Given the description of an element on the screen output the (x, y) to click on. 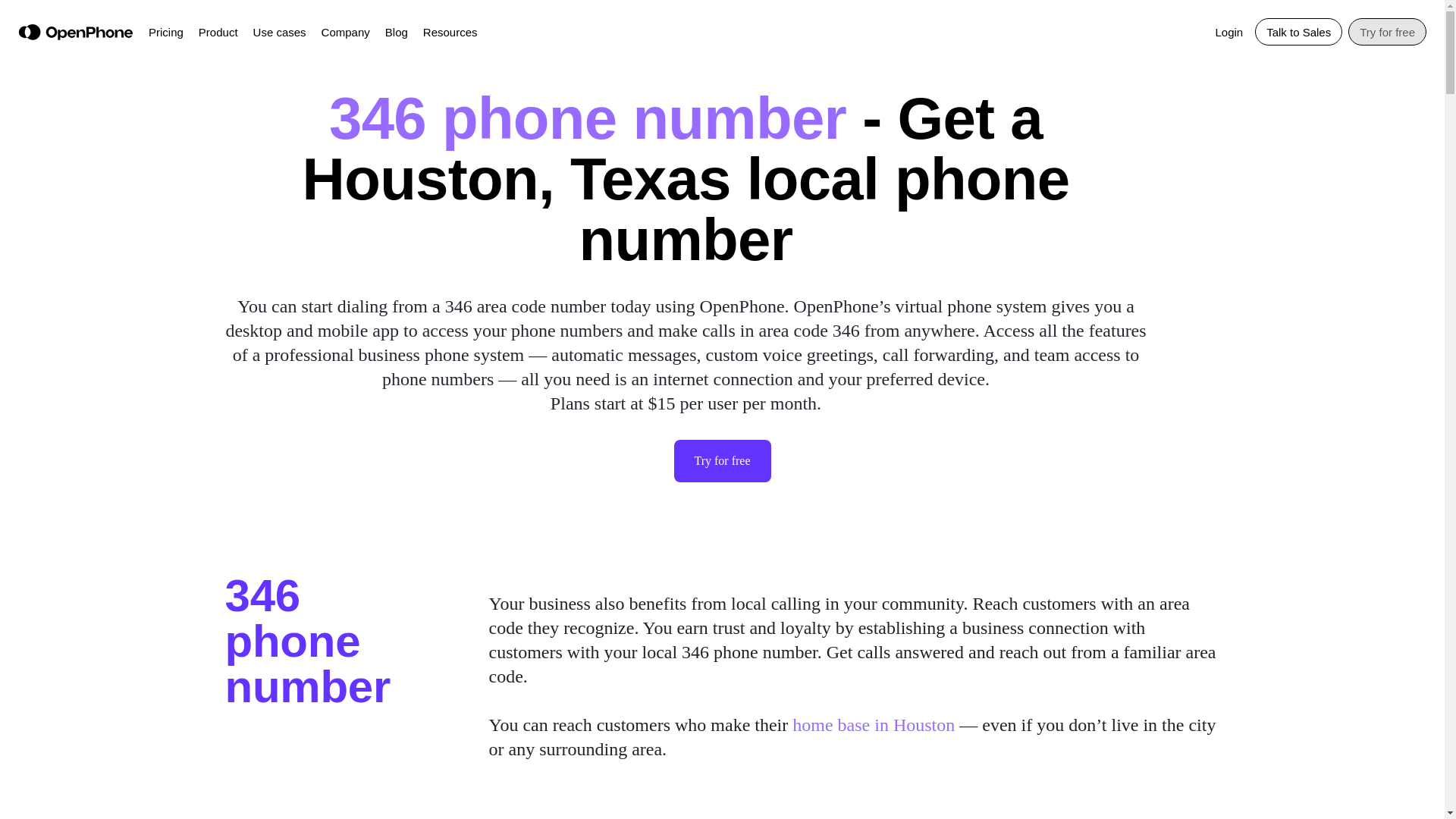
Try for free (1387, 31)
Pricing (165, 30)
Talk to Sales (1298, 31)
Blog (396, 30)
Try for free (721, 460)
Login (1228, 30)
home base in Houston (873, 724)
